Given the description of an element on the screen output the (x, y) to click on. 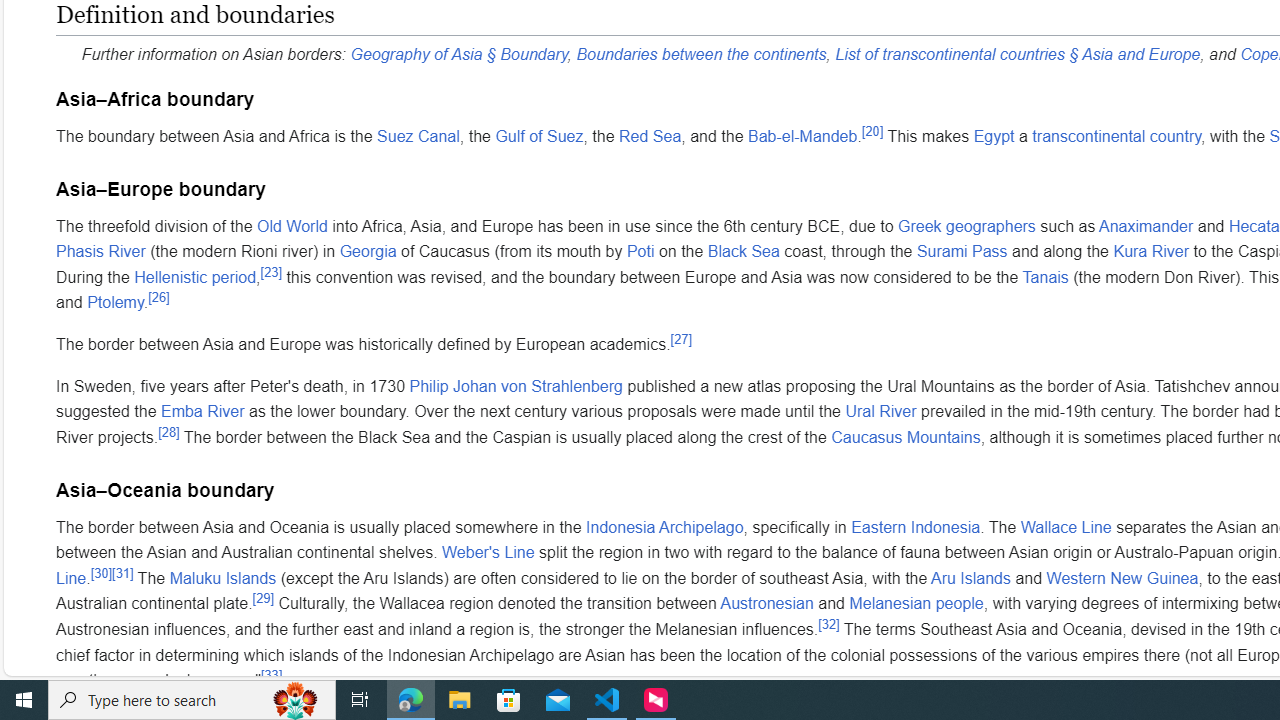
Western New Guinea (1122, 577)
Austronesian (766, 603)
[32] (828, 624)
Red Sea (650, 135)
Indonesia Archipelago (664, 526)
Maluku Islands (222, 577)
[33] (270, 674)
Black Sea (742, 251)
[31] (123, 573)
Ural River (880, 412)
Caucasus Mountains (905, 436)
Gulf of Suez (539, 135)
Aru Islands (971, 577)
Ptolemy (115, 302)
